Given the description of an element on the screen output the (x, y) to click on. 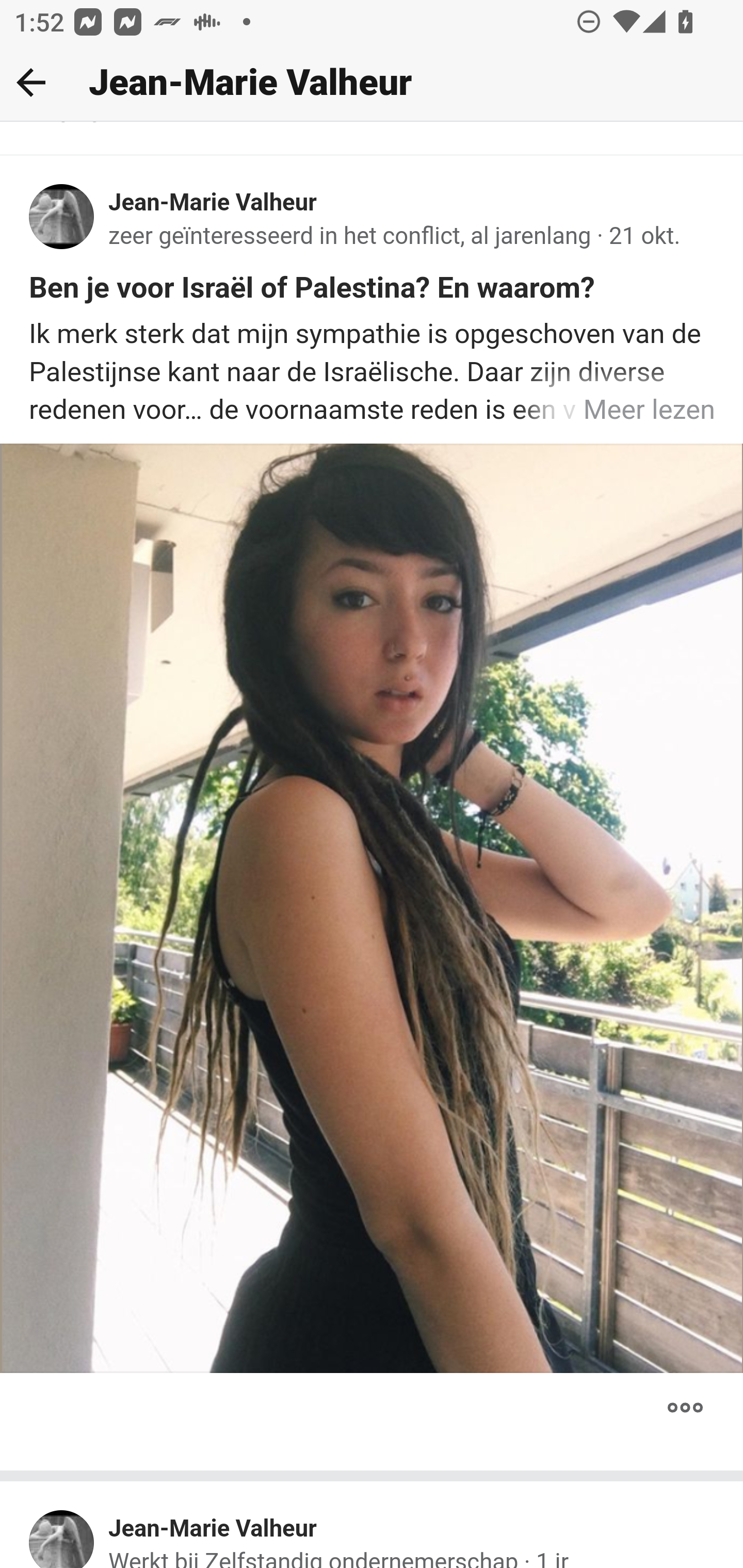
Back (30, 82)
Profielfoto voor Jean-Marie Valheur (61, 218)
Jean-Marie Valheur (213, 203)
Meer (684, 1408)
Profielfoto voor Jean-Marie Valheur (61, 1538)
Jean-Marie Valheur (213, 1529)
